Given the description of an element on the screen output the (x, y) to click on. 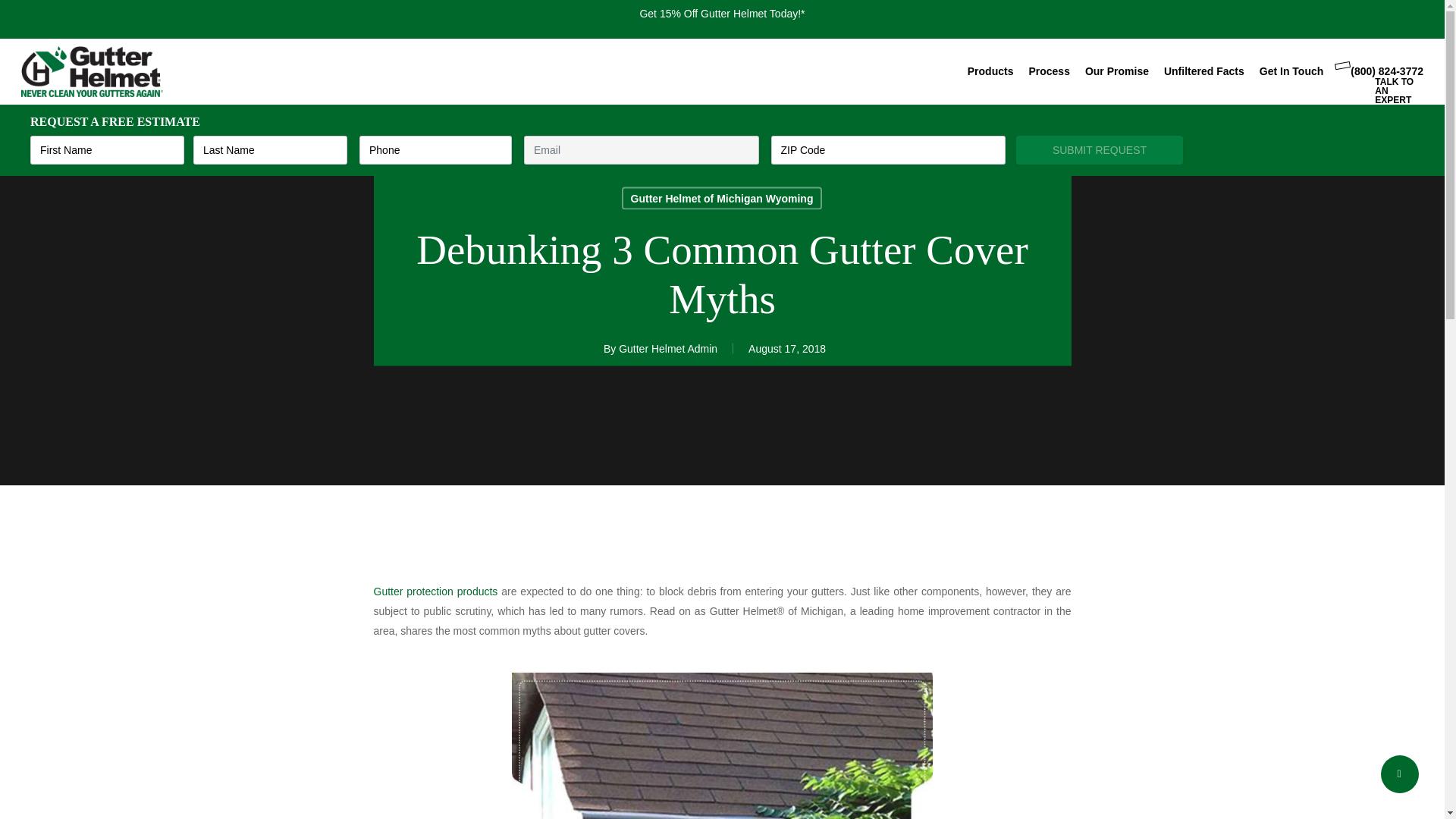
Gutter Helmet Admin (667, 348)
Get In Touch (1291, 70)
SUBMIT REQUEST (1099, 149)
Posts by Gutter Helmet Admin (667, 348)
Process (1047, 70)
Products (990, 70)
Unfiltered Facts (1203, 70)
Gutter Helmet of Michigan Wyoming (721, 197)
Our Promise (1116, 70)
SUBMIT REQUEST (1099, 149)
Gutter protection products (434, 591)
Debunking 3 Common Gutter Cover Myths (722, 745)
